Given the description of an element on the screen output the (x, y) to click on. 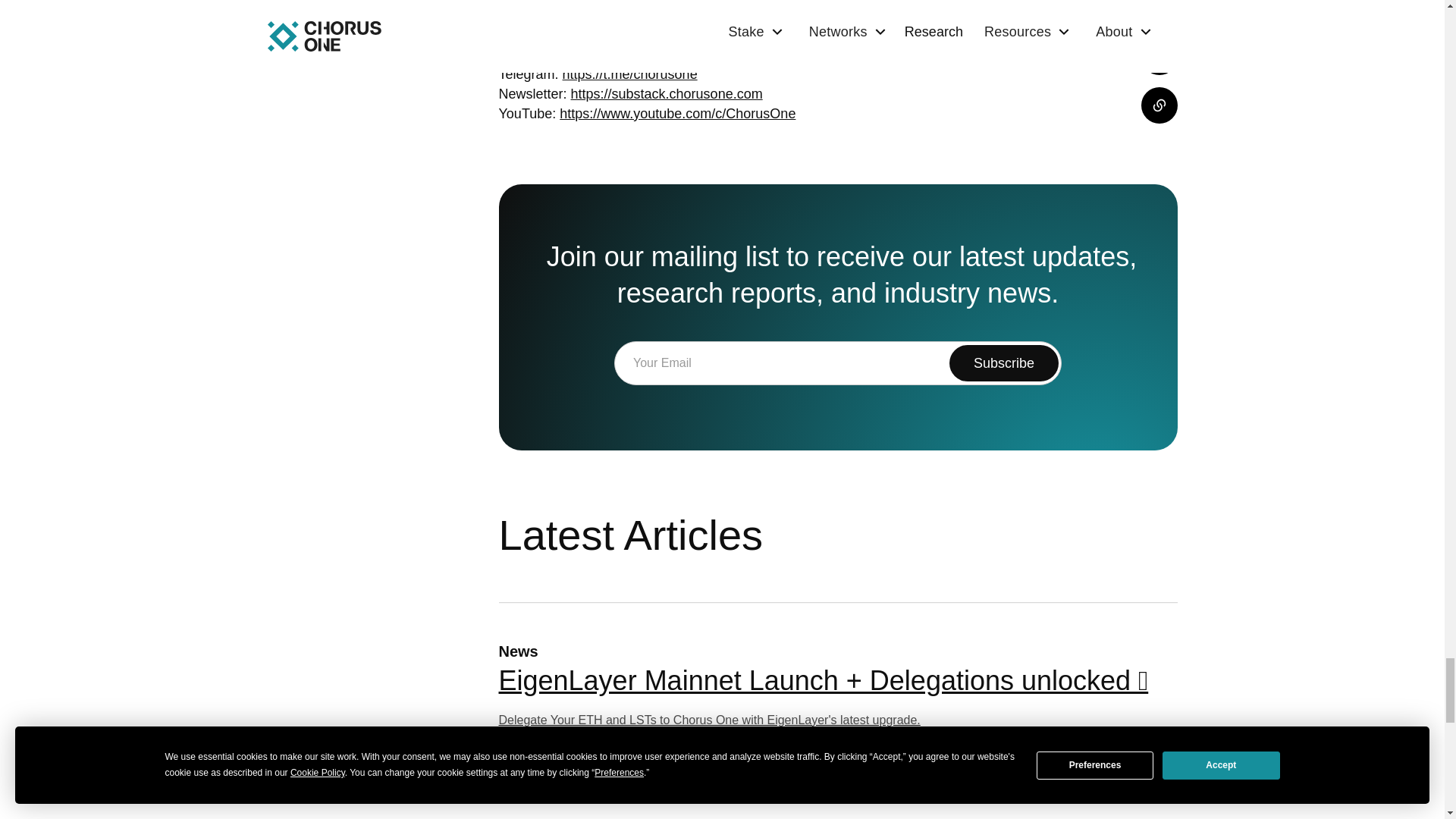
Subscribe (1003, 362)
